Given the description of an element on the screen output the (x, y) to click on. 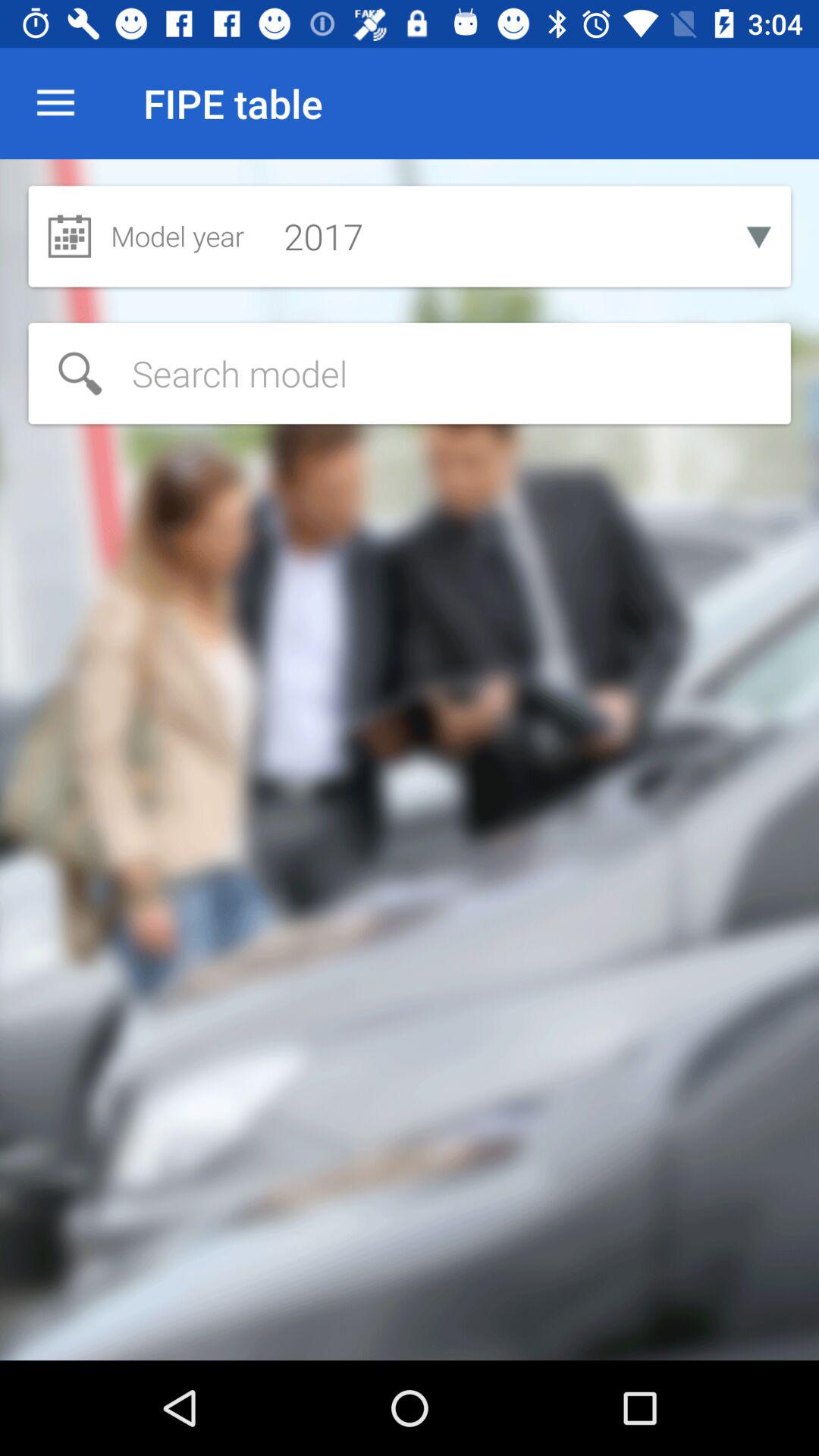
to search something (409, 373)
